Given the description of an element on the screen output the (x, y) to click on. 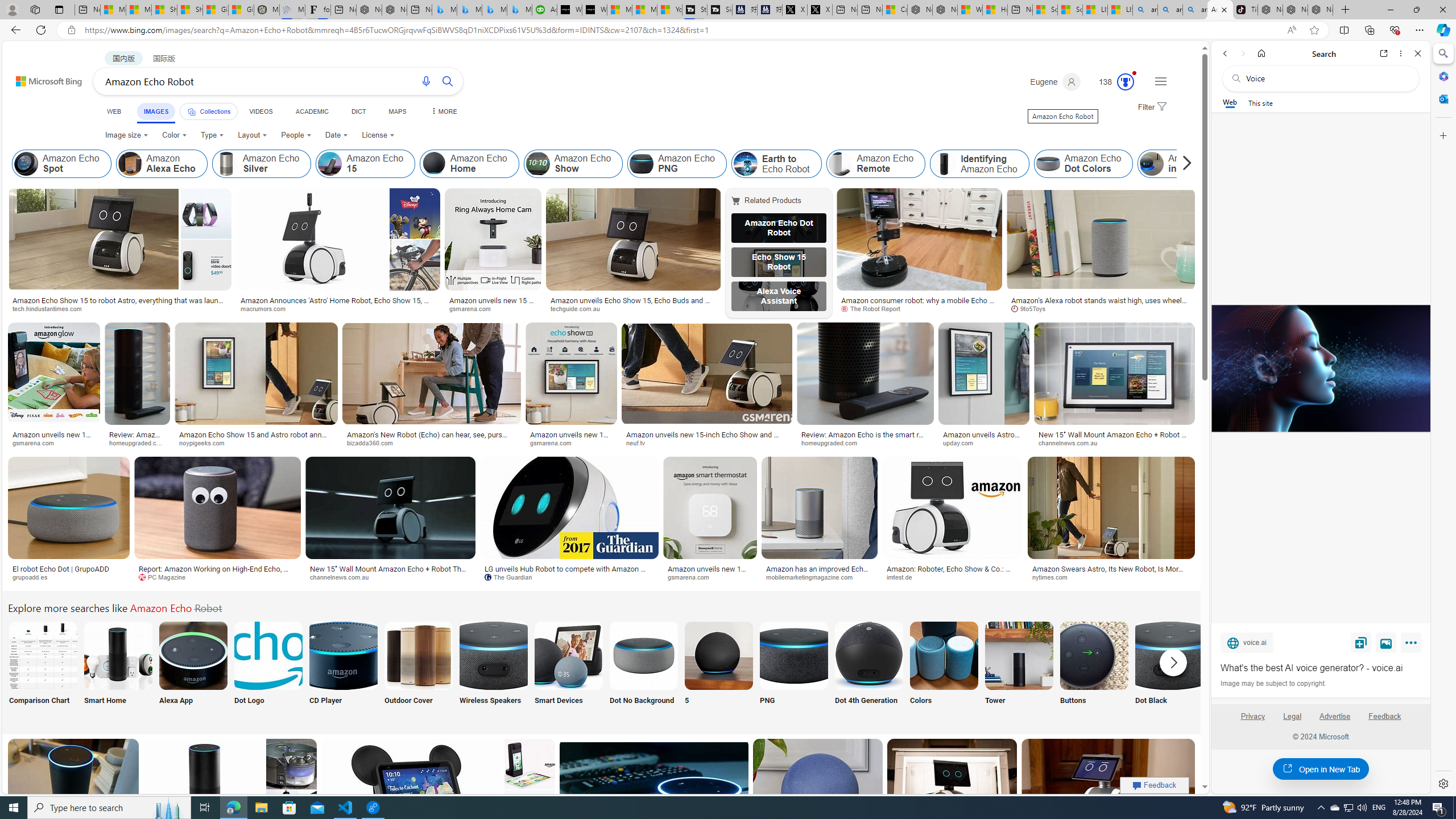
Alexa Voice Assistant Robot (778, 296)
Amazon Echo Colors (944, 654)
gsmarena.com (692, 576)
Privacy (1252, 715)
More (1413, 644)
Amazon Echo Dot Black Dot Black (1169, 669)
noypigeeks.com (256, 442)
